Given the description of an element on the screen output the (x, y) to click on. 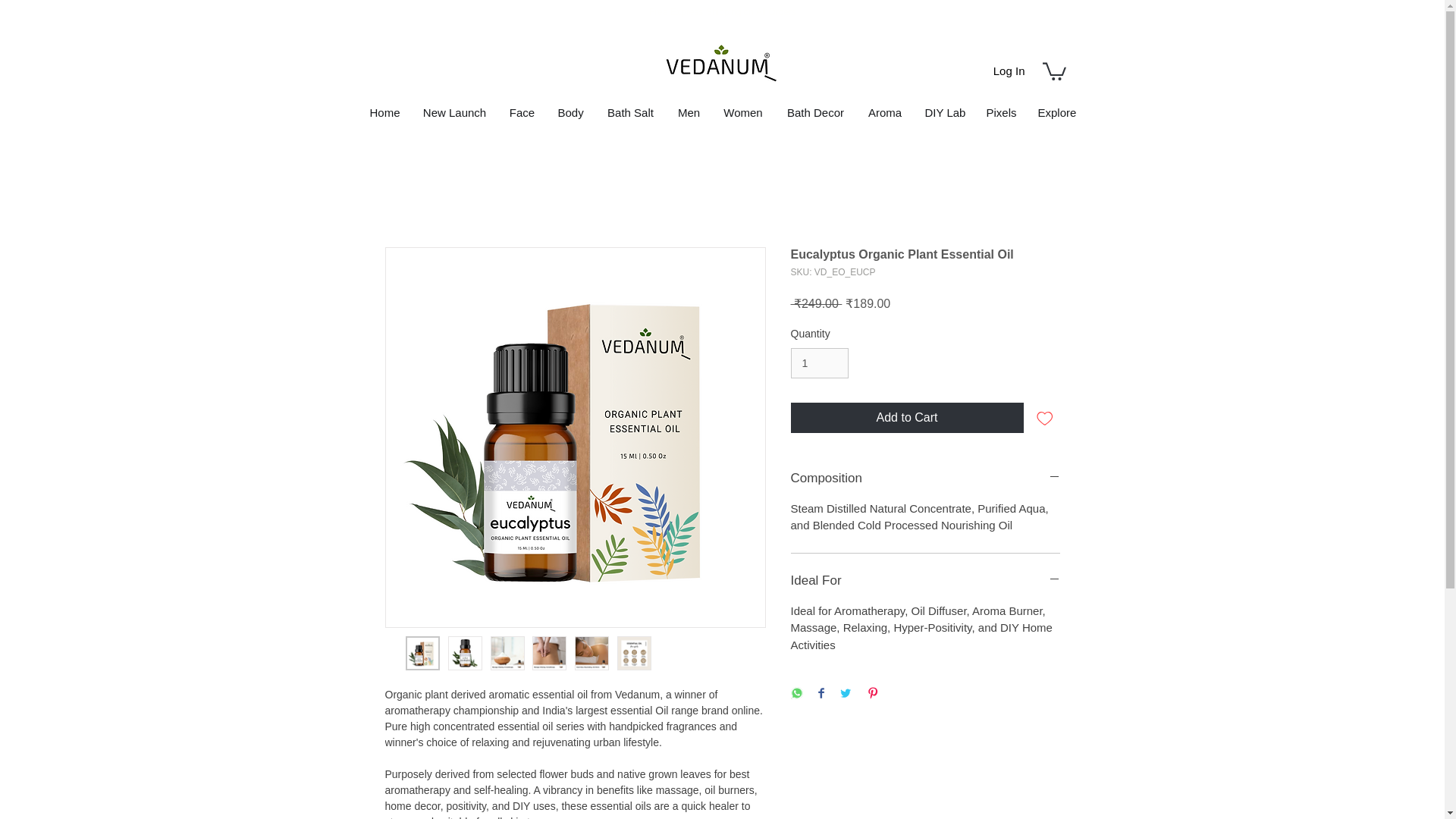
Home (384, 112)
Log In (1008, 69)
1 (818, 363)
